Given the description of an element on the screen output the (x, y) to click on. 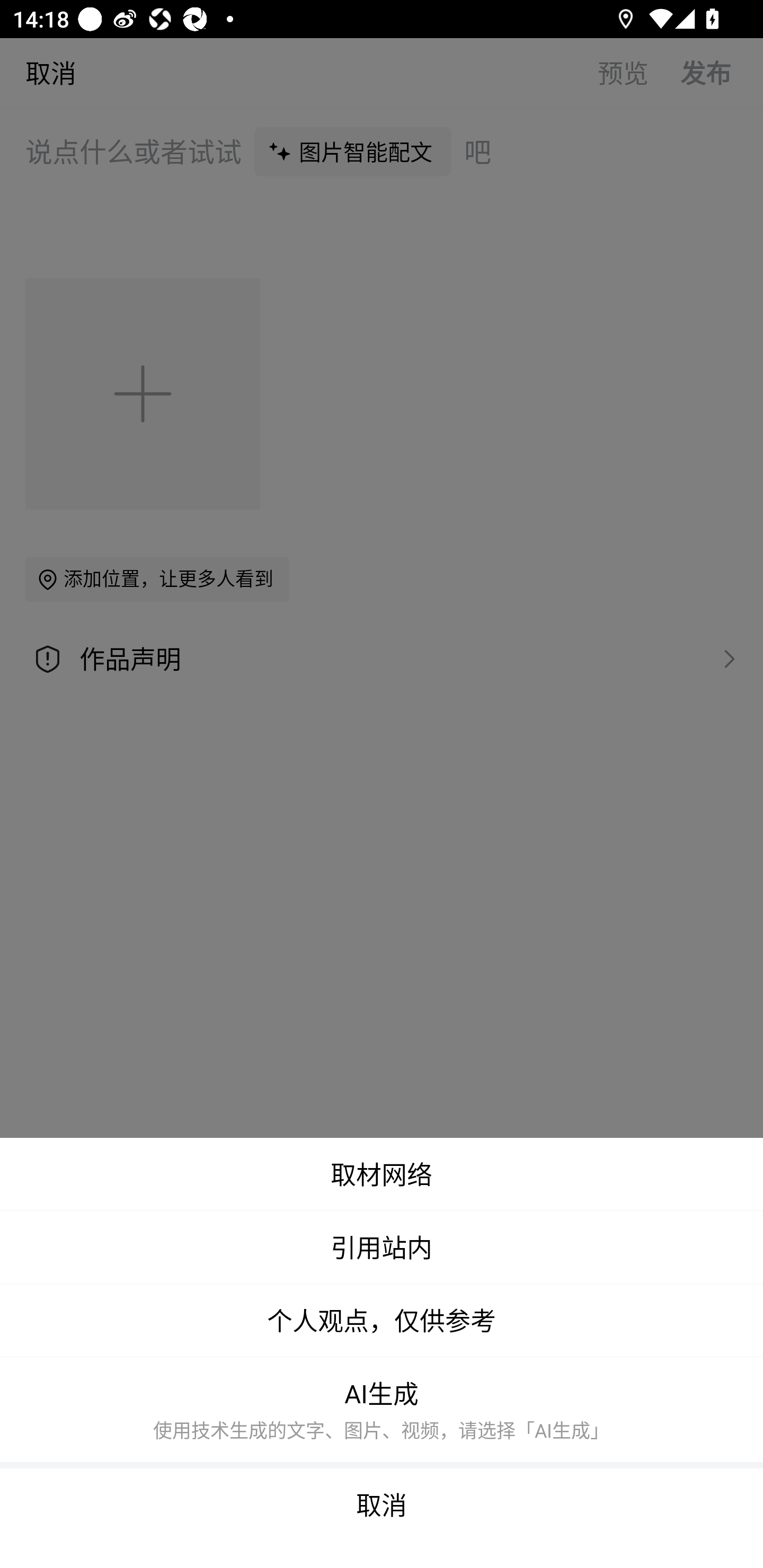
取材网络 (381, 1174)
引用站内 (381, 1247)
个人观点，仅供参考 (381, 1320)
AI生成 使用技术生成的文字、图片、视频，请选择「AI生成」 (381, 1412)
取消 (381, 1517)
